Given the description of an element on the screen output the (x, y) to click on. 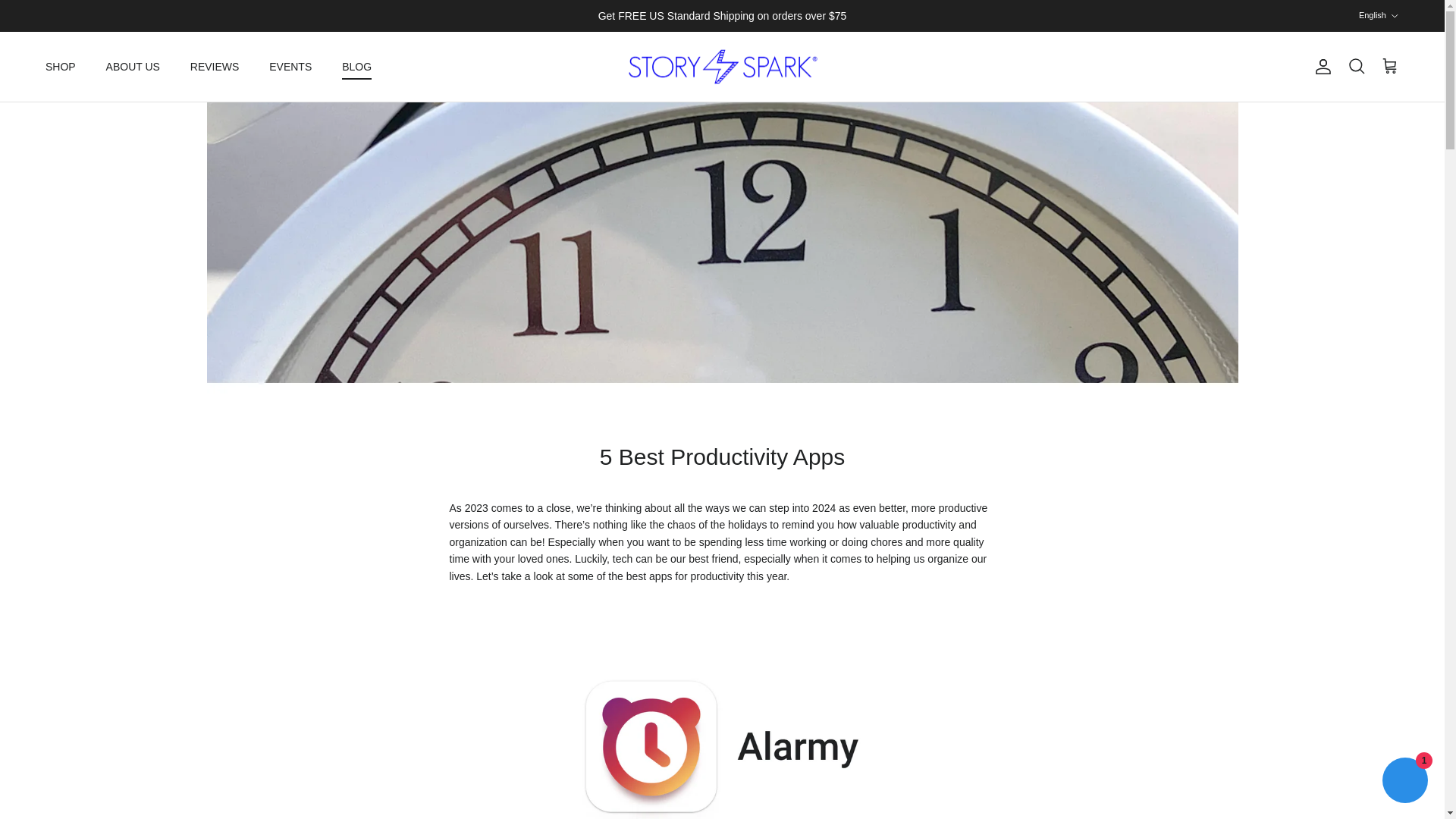
BLOG (357, 66)
English (1378, 15)
ABOUT US (133, 66)
Search (1356, 66)
STORY SPARK (721, 66)
Account (1319, 66)
SHOP (60, 66)
Cart (1389, 66)
REVIEWS (214, 66)
EVENTS (290, 66)
